Given the description of an element on the screen output the (x, y) to click on. 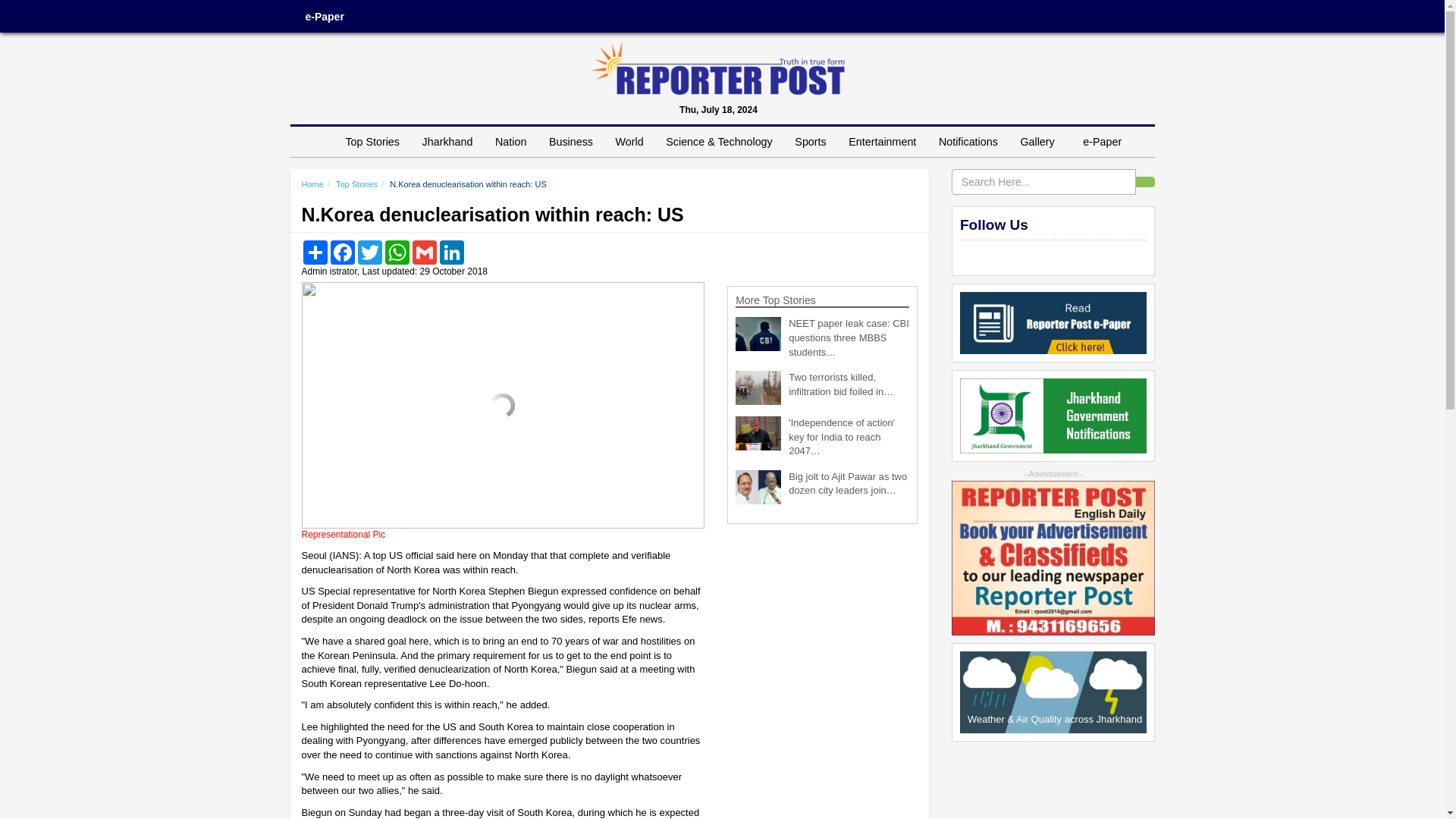
Top Stories (371, 141)
Jharkhand (447, 141)
e-Paper (323, 16)
World (629, 141)
Read Reporter Post ePaper (1053, 322)
e-Paper (1102, 141)
Nation (509, 141)
Sports (809, 141)
Gallery   (1040, 141)
Notifications (967, 141)
Entertainment (882, 141)
Business (570, 141)
Reporter Post (717, 68)
